Given the description of an element on the screen output the (x, y) to click on. 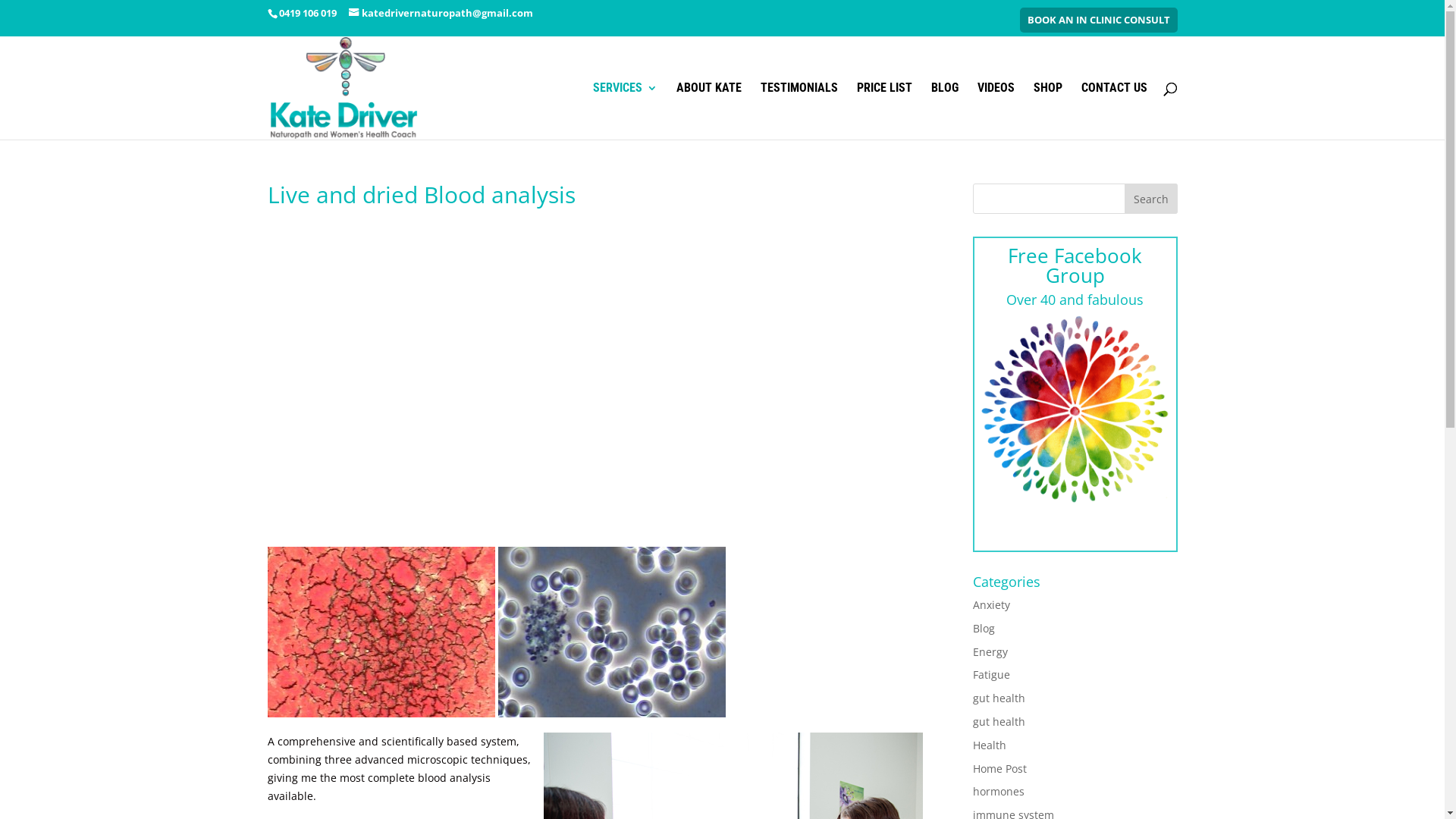
Join Here Element type: text (1074, 523)
BLOG Element type: text (944, 110)
Search Element type: text (1149, 198)
PRICE LIST Element type: text (884, 110)
Blog Element type: text (983, 628)
CONTACT US Element type: text (1114, 110)
BOOK AN IN CLINIC CONSULT Element type: text (1097, 20)
0419 106 019 Element type: text (305, 12)
gut health Element type: text (998, 697)
ABOUT KATE Element type: text (708, 110)
gut health Element type: text (998, 721)
TESTIMONIALS Element type: text (798, 110)
Energy Element type: text (989, 651)
SERVICES Element type: text (625, 110)
SHOP Element type: text (1046, 110)
VIDEOS Element type: text (994, 110)
Fatigue Element type: text (990, 674)
Health Element type: text (988, 744)
hormones Element type: text (997, 791)
Anxiety Element type: text (990, 604)
katedrivernaturopath@gmail.com Element type: text (440, 12)
Home Post Element type: text (999, 768)
